Given the description of an element on the screen output the (x, y) to click on. 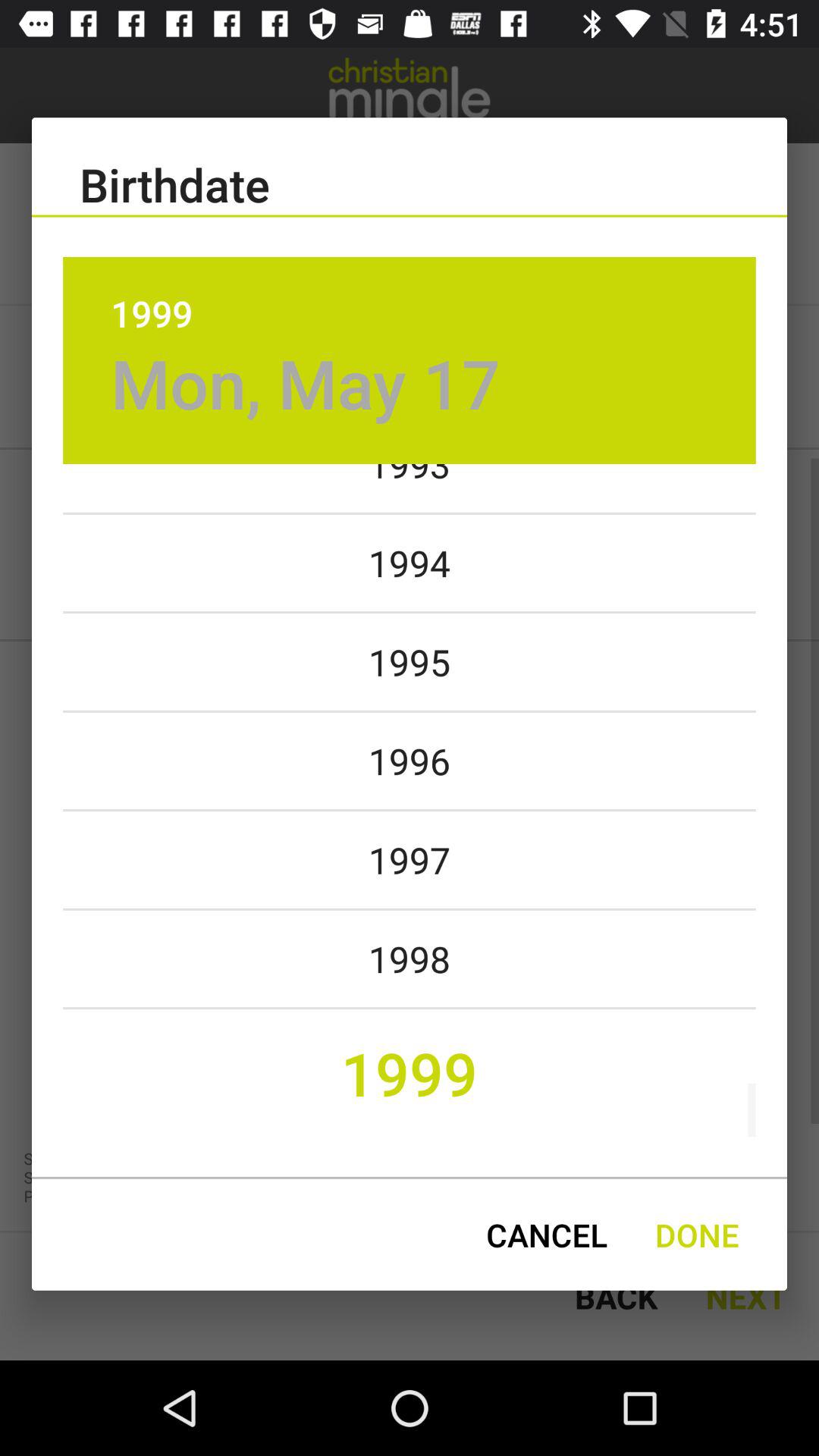
scroll until cancel icon (546, 1234)
